Given the description of an element on the screen output the (x, y) to click on. 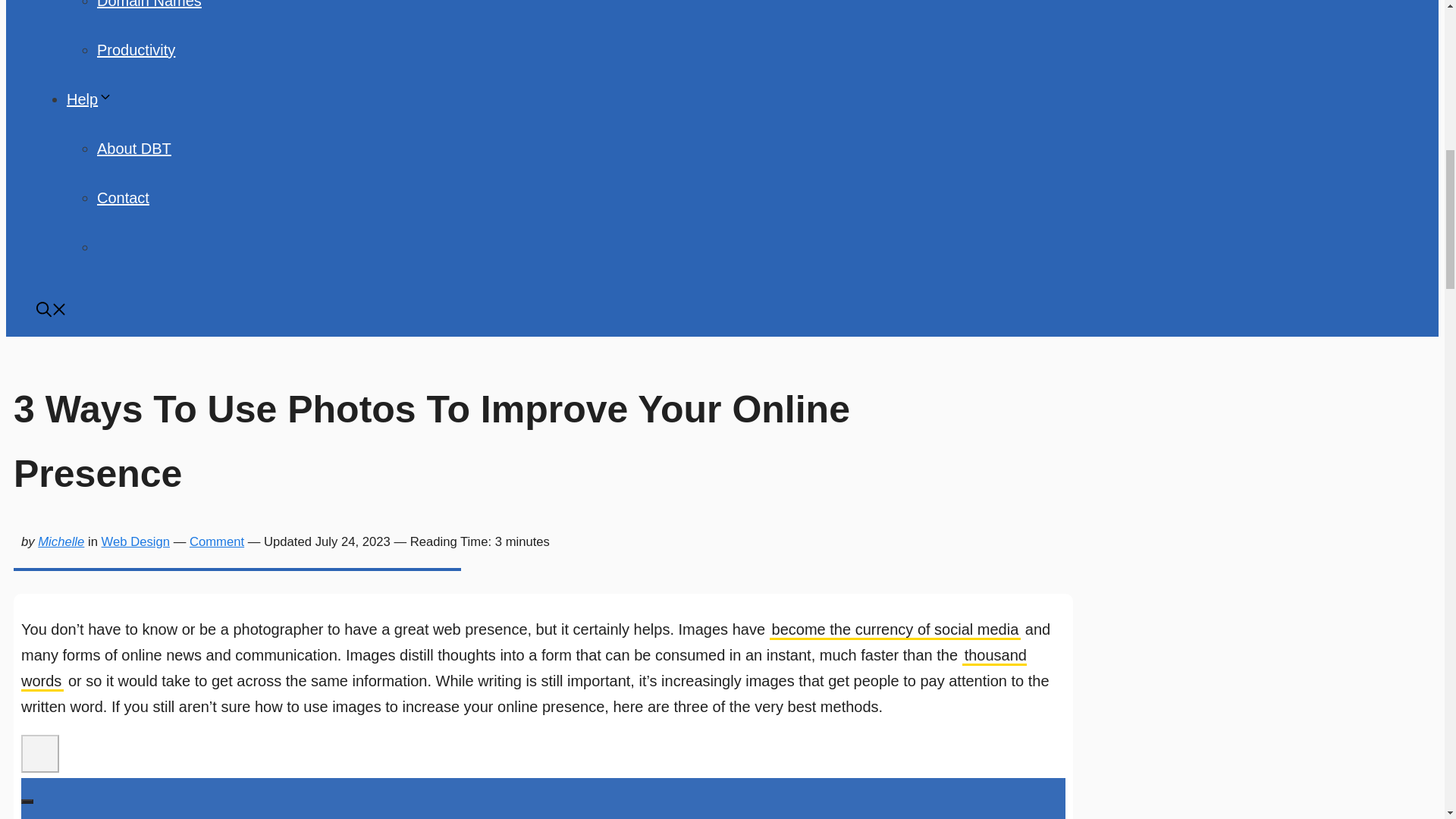
thousand words (523, 669)
click To Maximize The Table Of Contents (40, 753)
Help (89, 98)
Contact (123, 197)
Productivity (135, 49)
Comment (216, 541)
Web Design (135, 541)
become the currency of social media (896, 629)
About DBT (134, 148)
Michelle (60, 541)
Domain Names (149, 4)
